Given the description of an element on the screen output the (x, y) to click on. 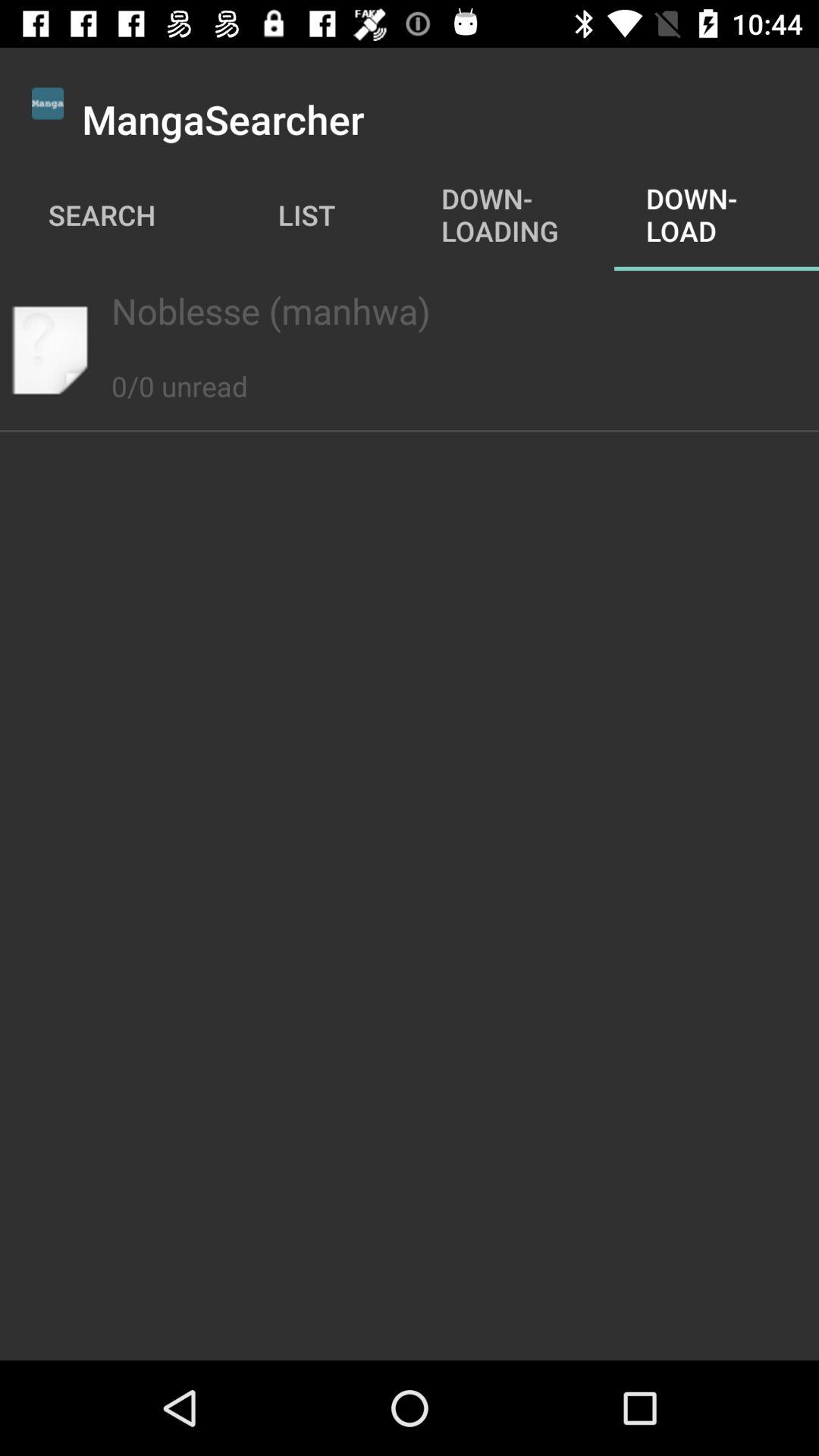
tap item above the 
0/0 unread item (409, 310)
